Given the description of an element on the screen output the (x, y) to click on. 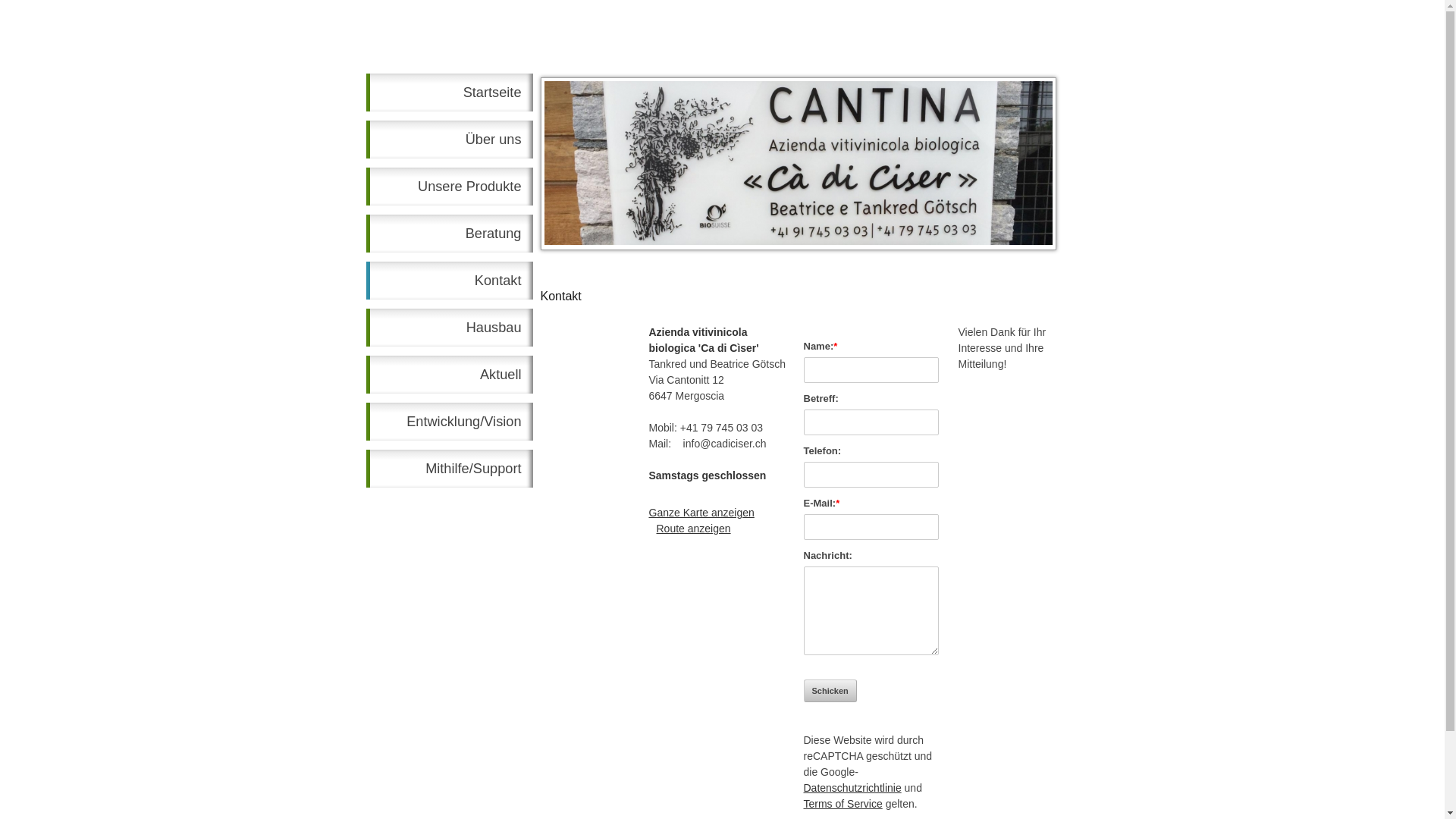
Schicken Element type: text (829, 690)
Route anzeigen Element type: text (693, 528)
Beratung Element type: text (448, 233)
Ganze Karte anzeigen Element type: text (701, 512)
Unsere Produkte Element type: text (448, 186)
Hausbau Element type: text (448, 327)
Startseite Element type: text (448, 92)
Kontakt Element type: text (448, 280)
Aktuell Element type: text (448, 374)
Entwicklung/Vision Element type: text (448, 421)
Mithilfe/Support Element type: text (448, 468)
Datenschutzrichtlinie Element type: text (852, 787)
Terms of Service Element type: text (842, 803)
